Given the description of an element on the screen output the (x, y) to click on. 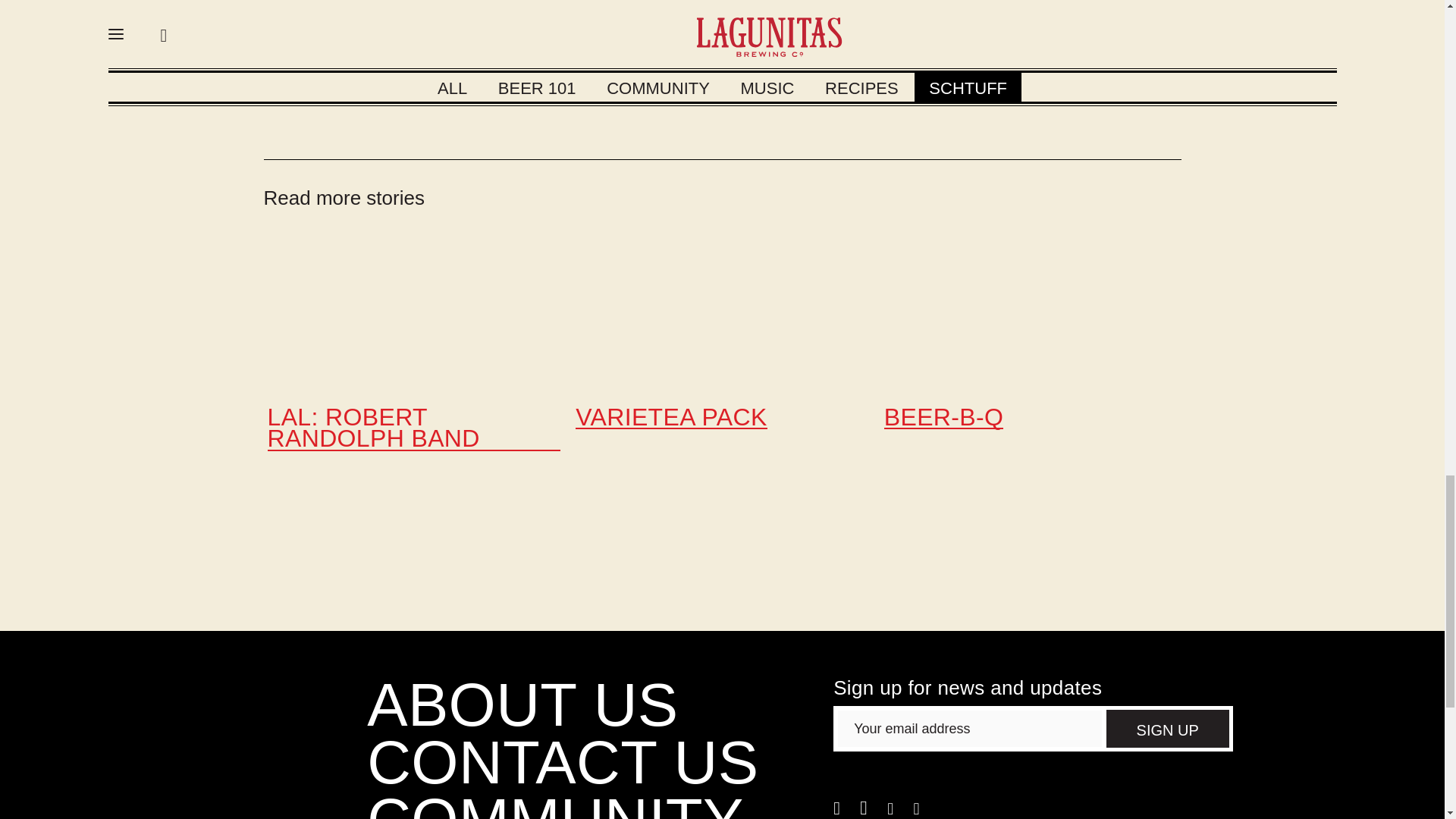
sign up (1167, 728)
VARIETEA PACK (671, 417)
LAL: ROBERT RANDOLPH BAND (413, 429)
